Given the description of an element on the screen output the (x, y) to click on. 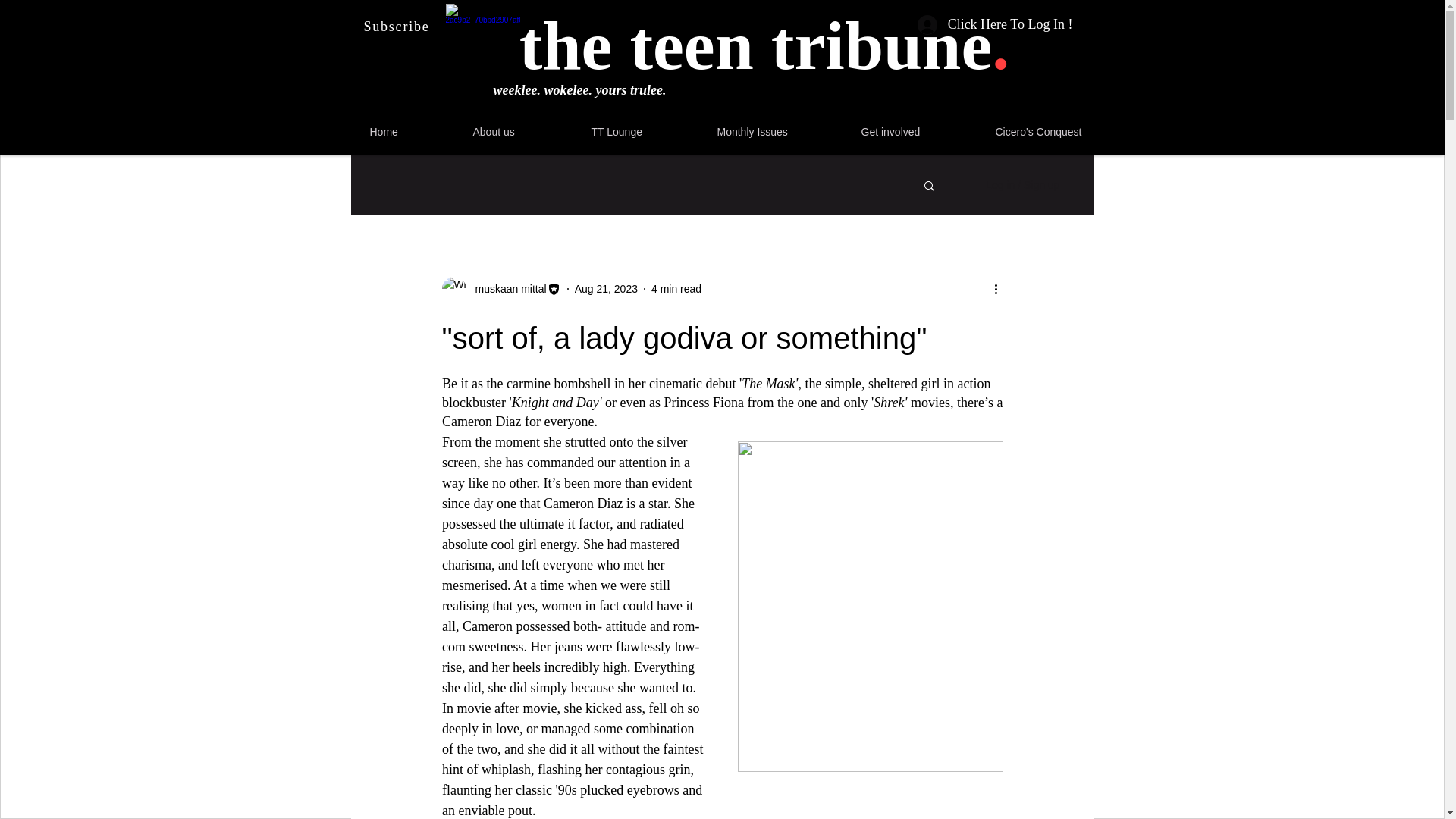
TT Lounge (646, 131)
Get involved (920, 131)
Aug 21, 2023 (606, 287)
Home (413, 131)
weeklee. wokelee. yours trulee. (579, 89)
the teen tribune (755, 45)
Click Here To Log In ! (995, 24)
Subscribe (398, 26)
muskaan mittal (505, 288)
muskaan mittal (500, 288)
About us (524, 131)
4 min read (675, 287)
Cicero's Conquest (1068, 131)
